Given the description of an element on the screen output the (x, y) to click on. 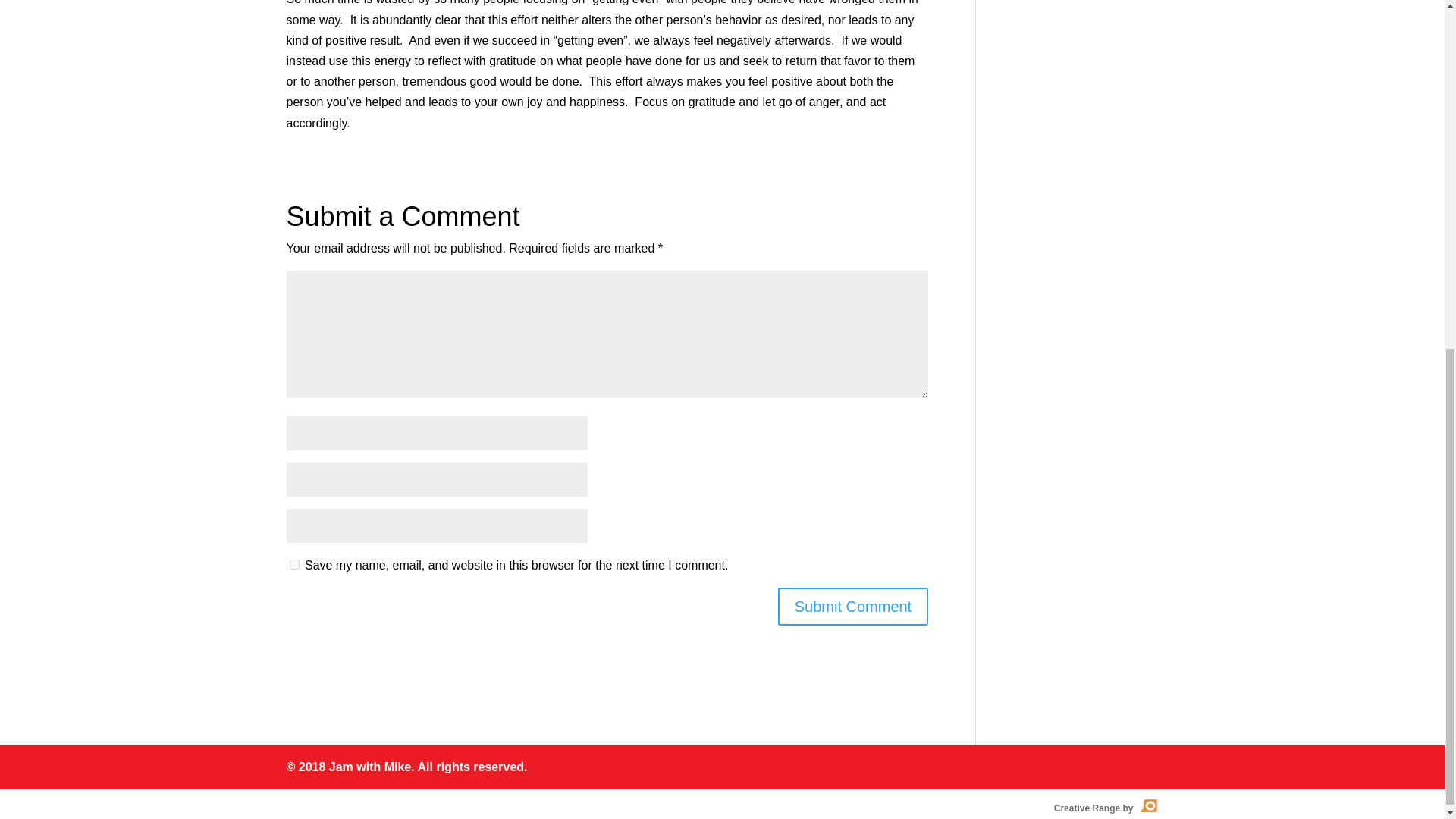
yes (294, 564)
Submit Comment (852, 606)
Creative Range by          (1104, 808)
Submit Comment (852, 606)
